Given the description of an element on the screen output the (x, y) to click on. 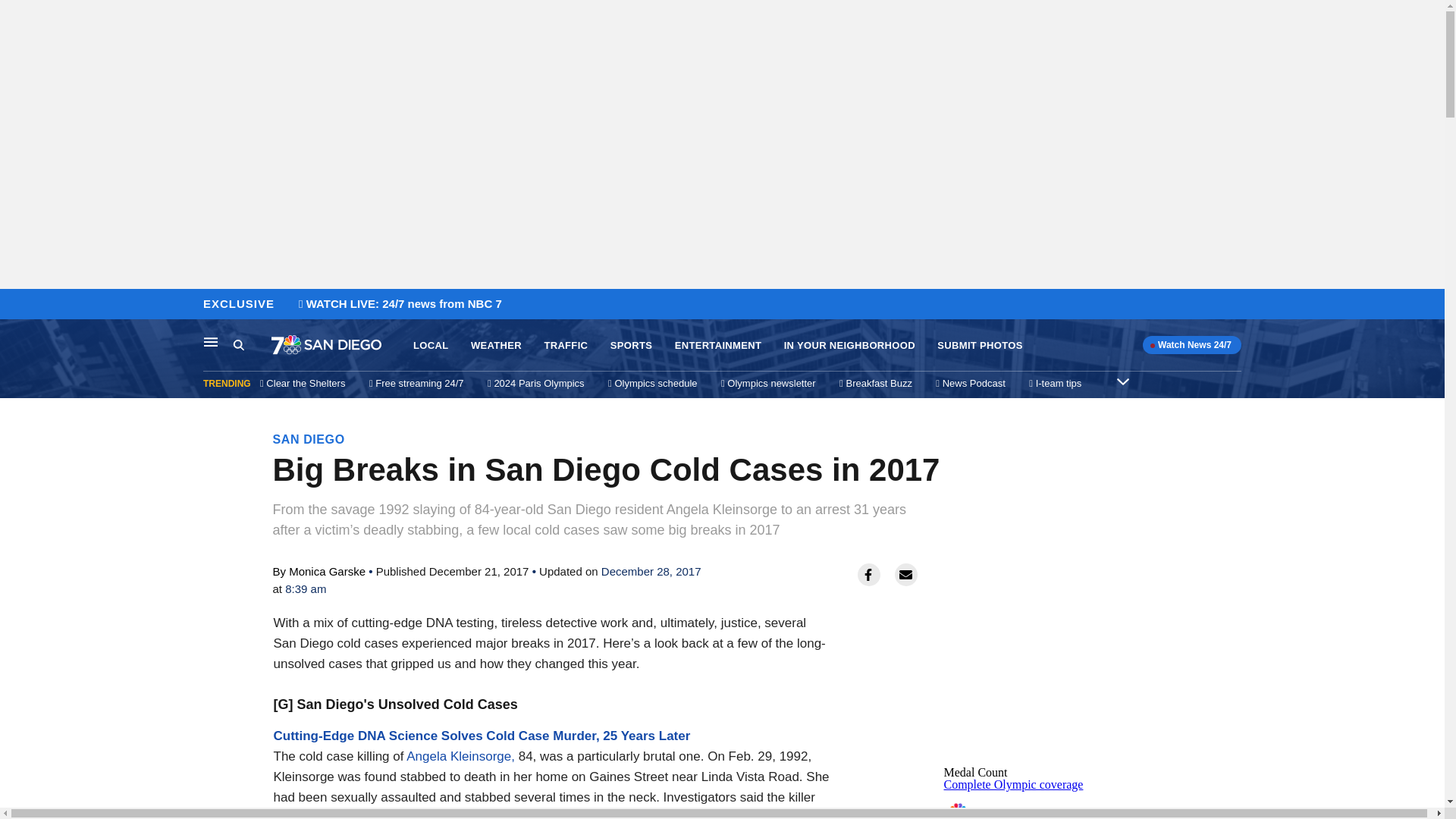
Main Navigation (210, 341)
LOCAL (430, 345)
Expand (1122, 381)
Skip to content (16, 304)
Search (252, 345)
ENTERTAINMENT (718, 345)
SUBMIT PHOTOS (979, 345)
Search (238, 344)
TRAFFIC (565, 345)
